Given the description of an element on the screen output the (x, y) to click on. 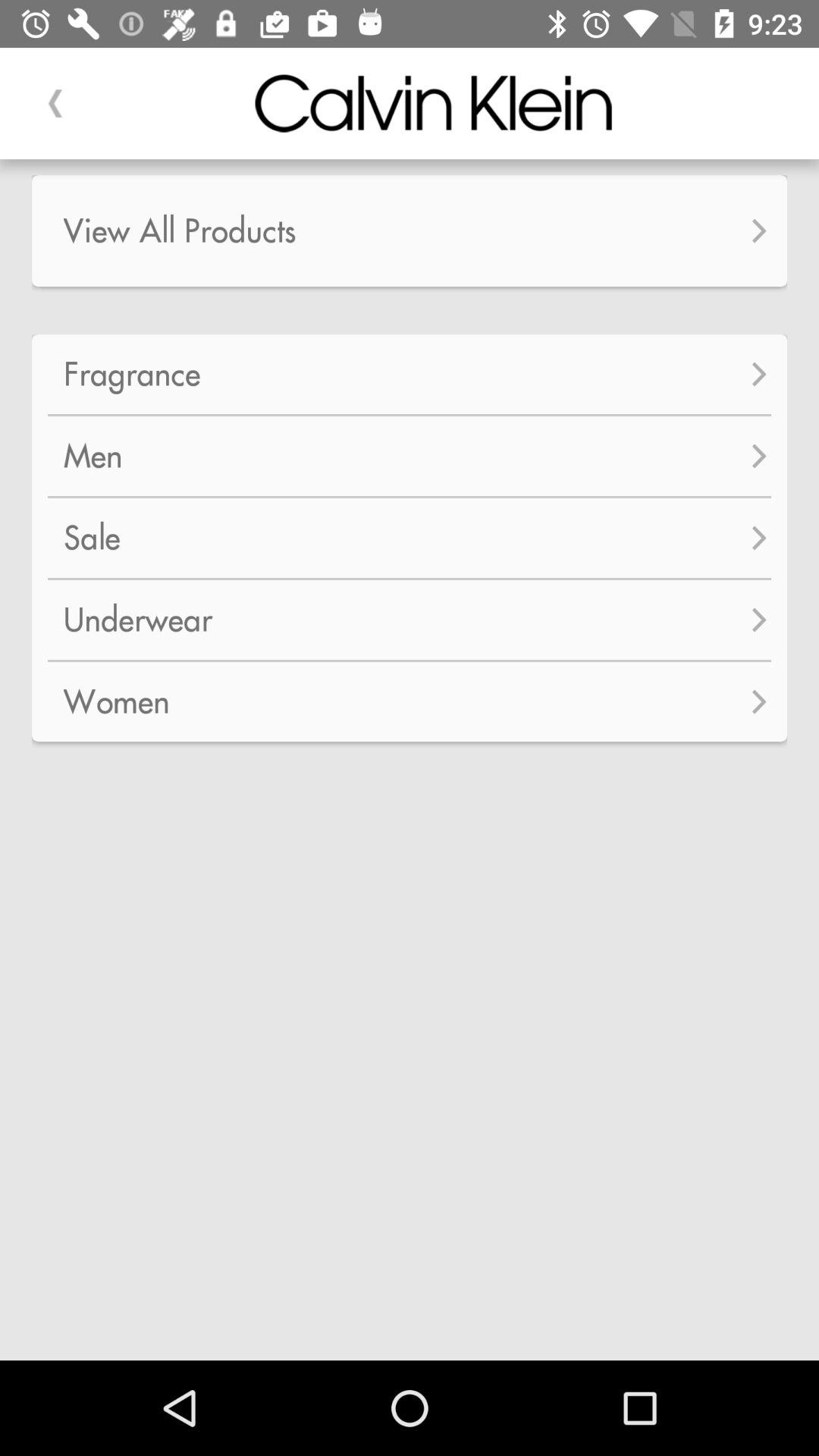
launch the icon above the view all products app (55, 103)
